Given the description of an element on the screen output the (x, y) to click on. 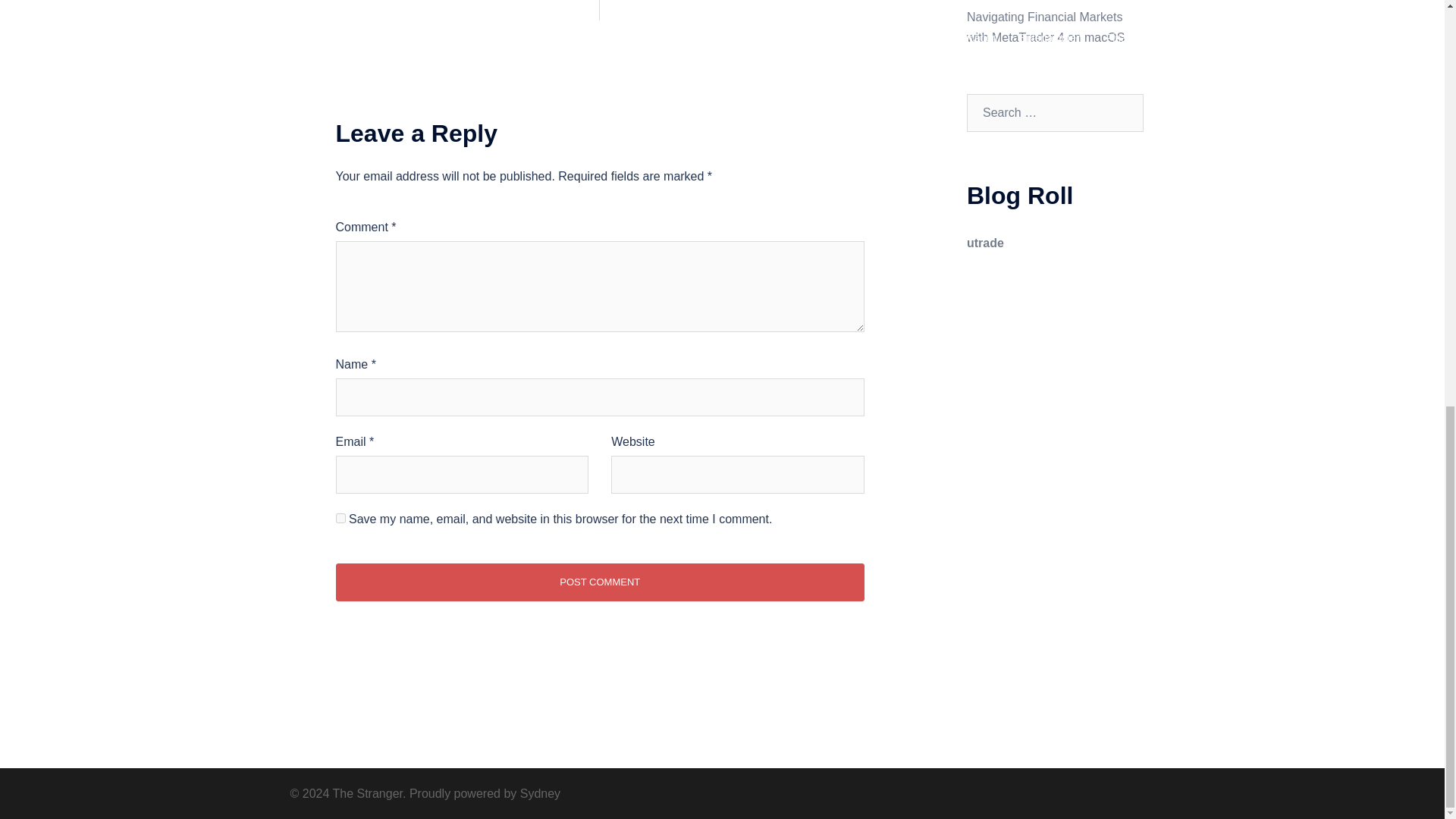
Post Comment (599, 582)
utrade (985, 242)
Sydney (539, 793)
Navigating Financial Markets with MetaTrader 4 on macOS (1045, 27)
yes (339, 518)
Post Comment (599, 582)
